Given the description of an element on the screen output the (x, y) to click on. 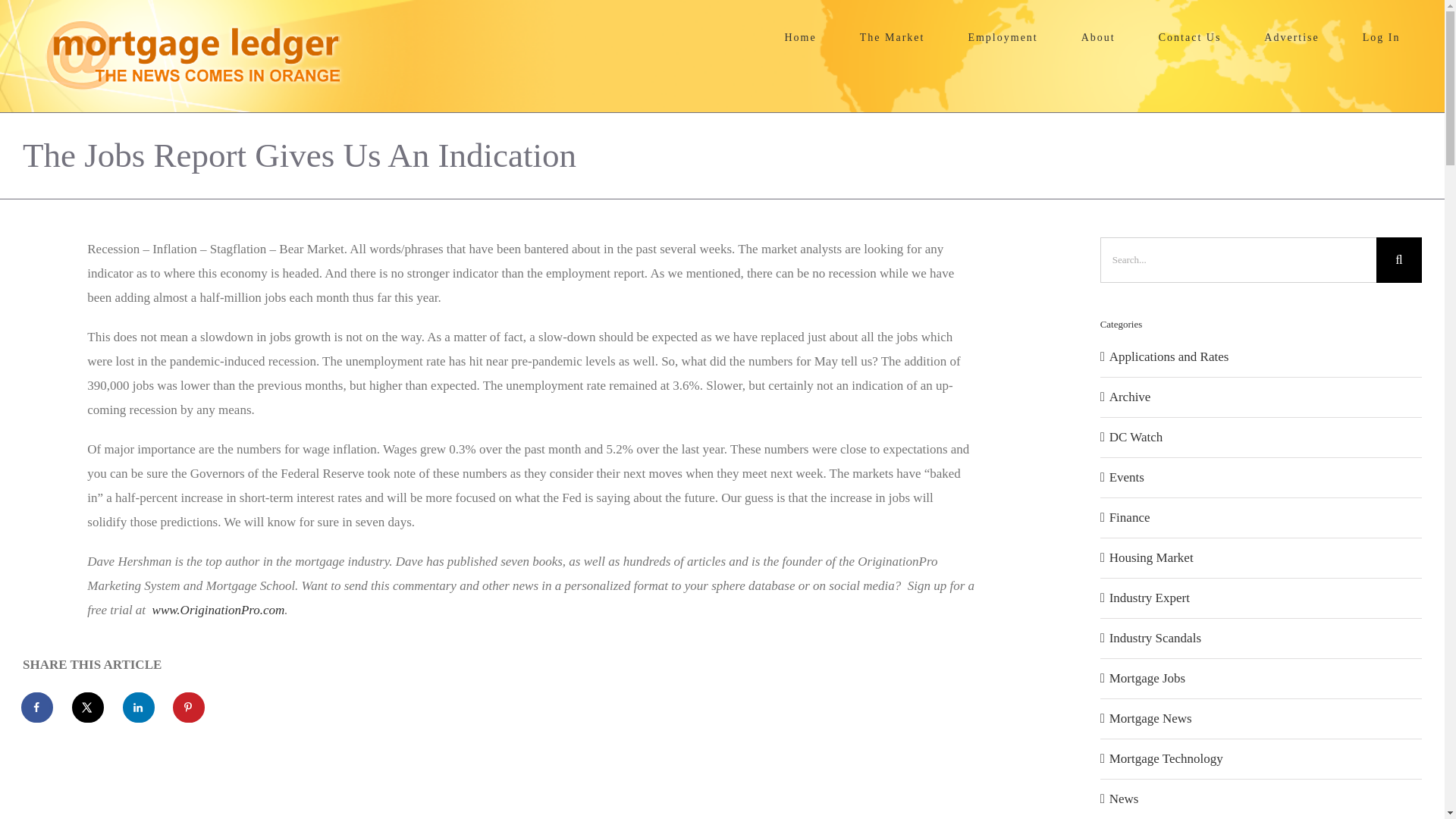
Housing Market (1261, 558)
www.OriginationPro.com (218, 609)
Mortgage Jobs (1261, 678)
The Market (892, 38)
Home (800, 38)
Advertise (1291, 38)
Employment (1002, 38)
Share on LinkedIn (138, 707)
Save to Pinterest (189, 707)
Industry Scandals (1261, 638)
